Given the description of an element on the screen output the (x, y) to click on. 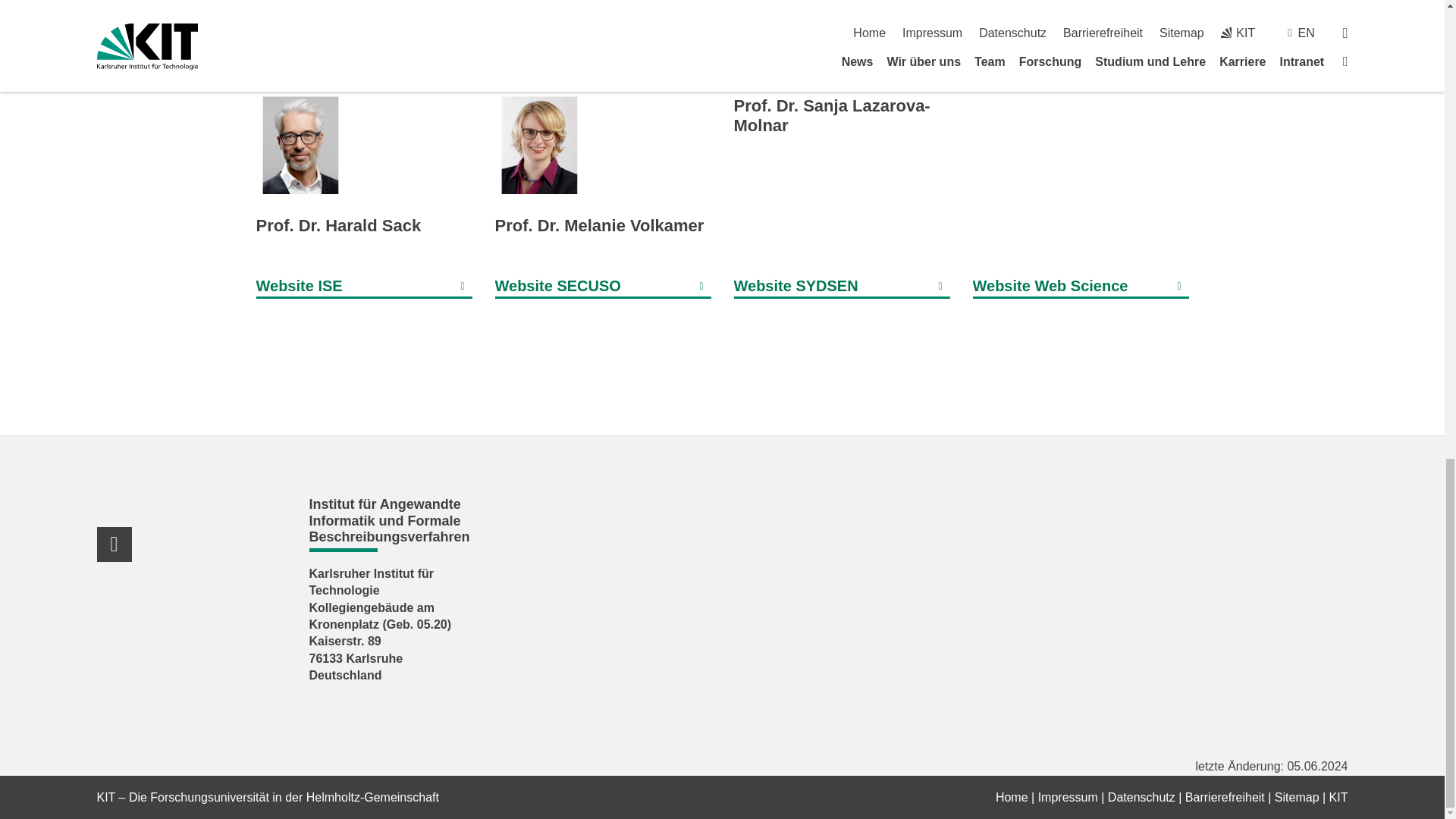
Startseite (1011, 797)
RSS-Feed (114, 544)
